Given the description of an element on the screen output the (x, y) to click on. 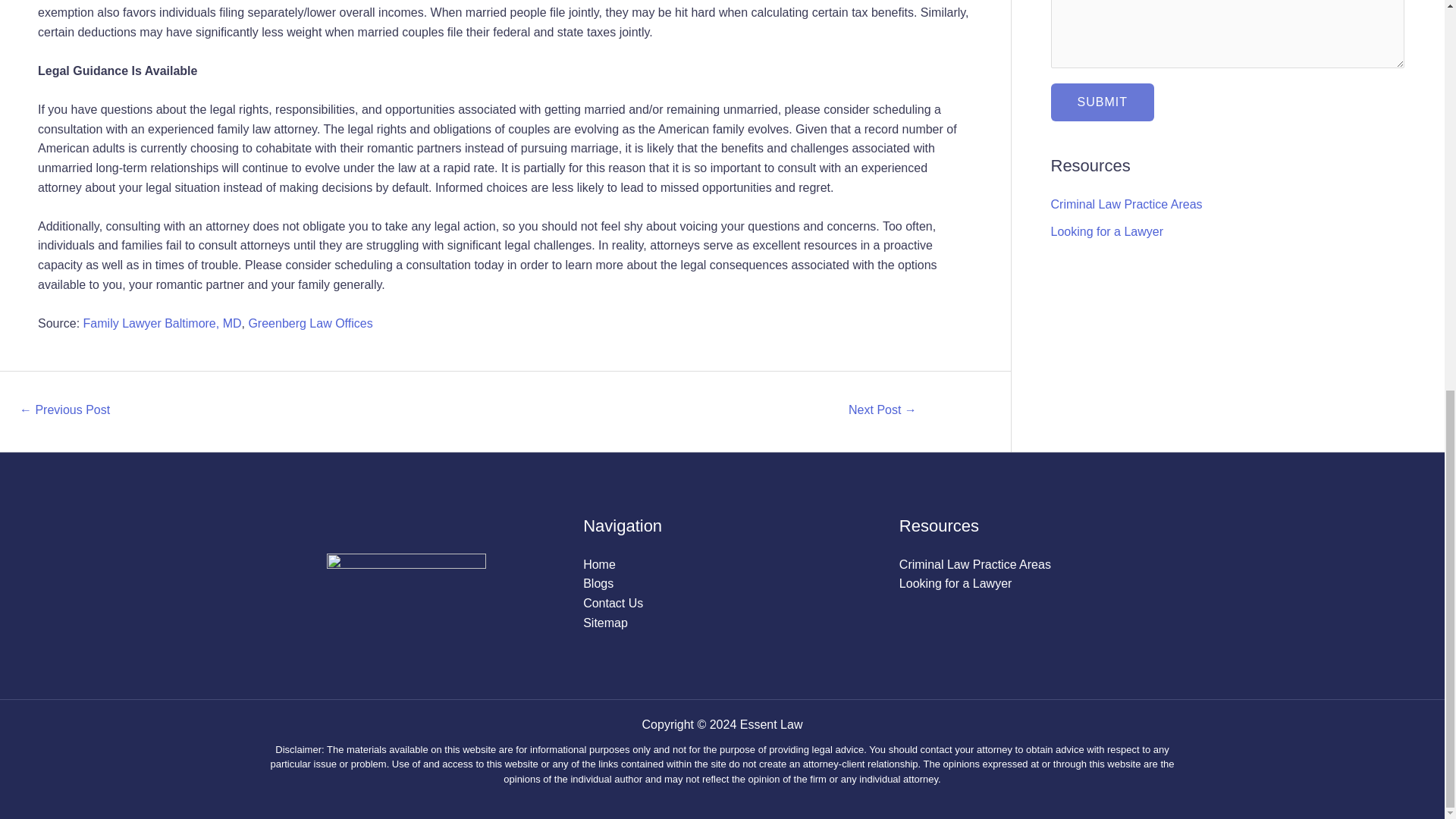
Family Lawyer Baltimore, MD (161, 323)
Criminal Law Practice Areas (1126, 204)
What to Expect at a Traffic Court Hearing (882, 411)
Sitemap (605, 622)
Looking for a Lawyer (1107, 231)
Bus Accident Personal Injury Law (64, 411)
Contact Us (613, 603)
Blogs (597, 583)
Looking for a Lawyer (955, 583)
SUBMIT (1102, 102)
